Given the description of an element on the screen output the (x, y) to click on. 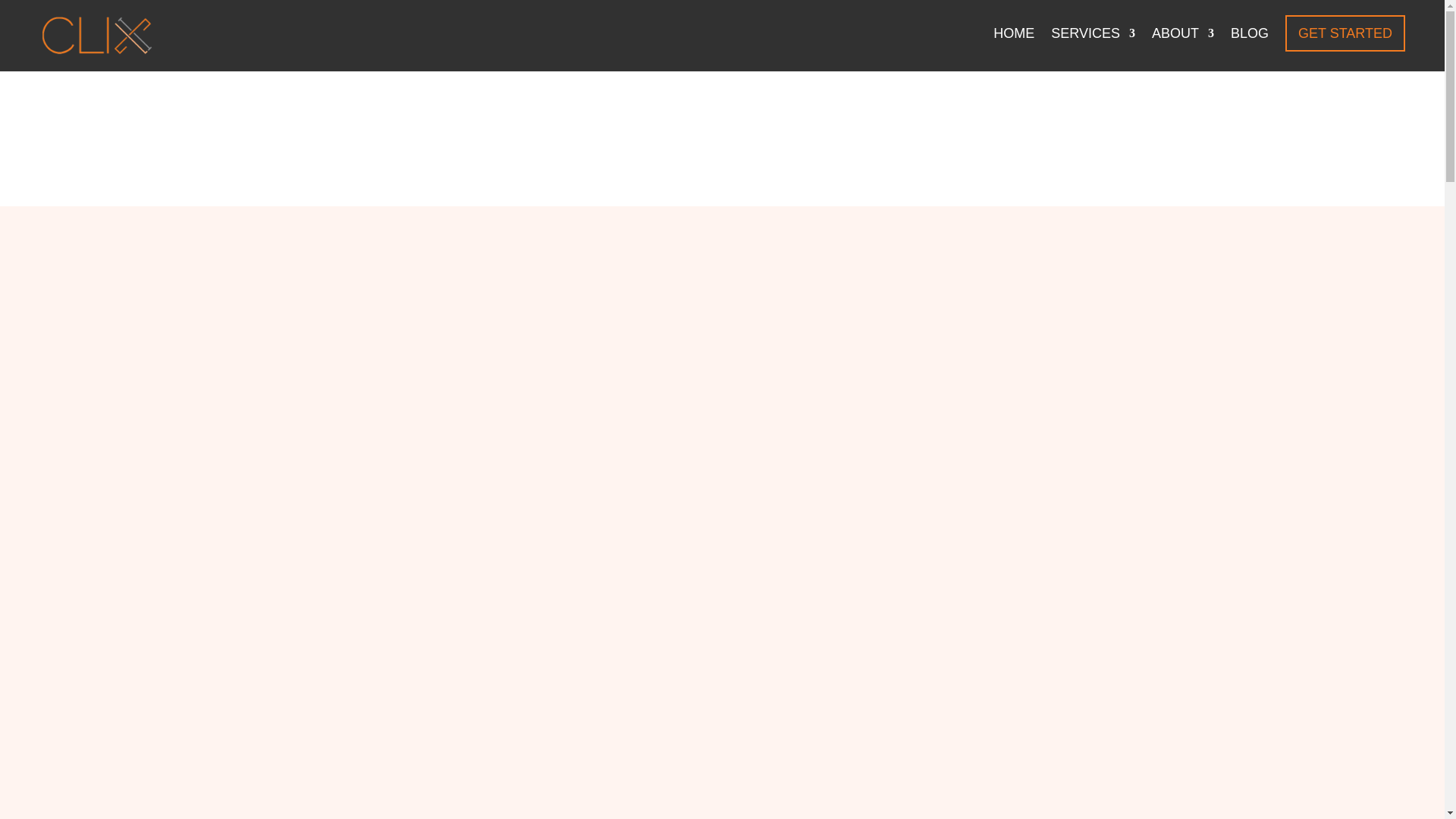
BLOG (1249, 45)
HOME (1012, 45)
GET STARTED (1345, 33)
Search (1274, 465)
ABOUT (1182, 45)
Subscribe (1128, 398)
SERVICES (1093, 45)
